Given the description of an element on the screen output the (x, y) to click on. 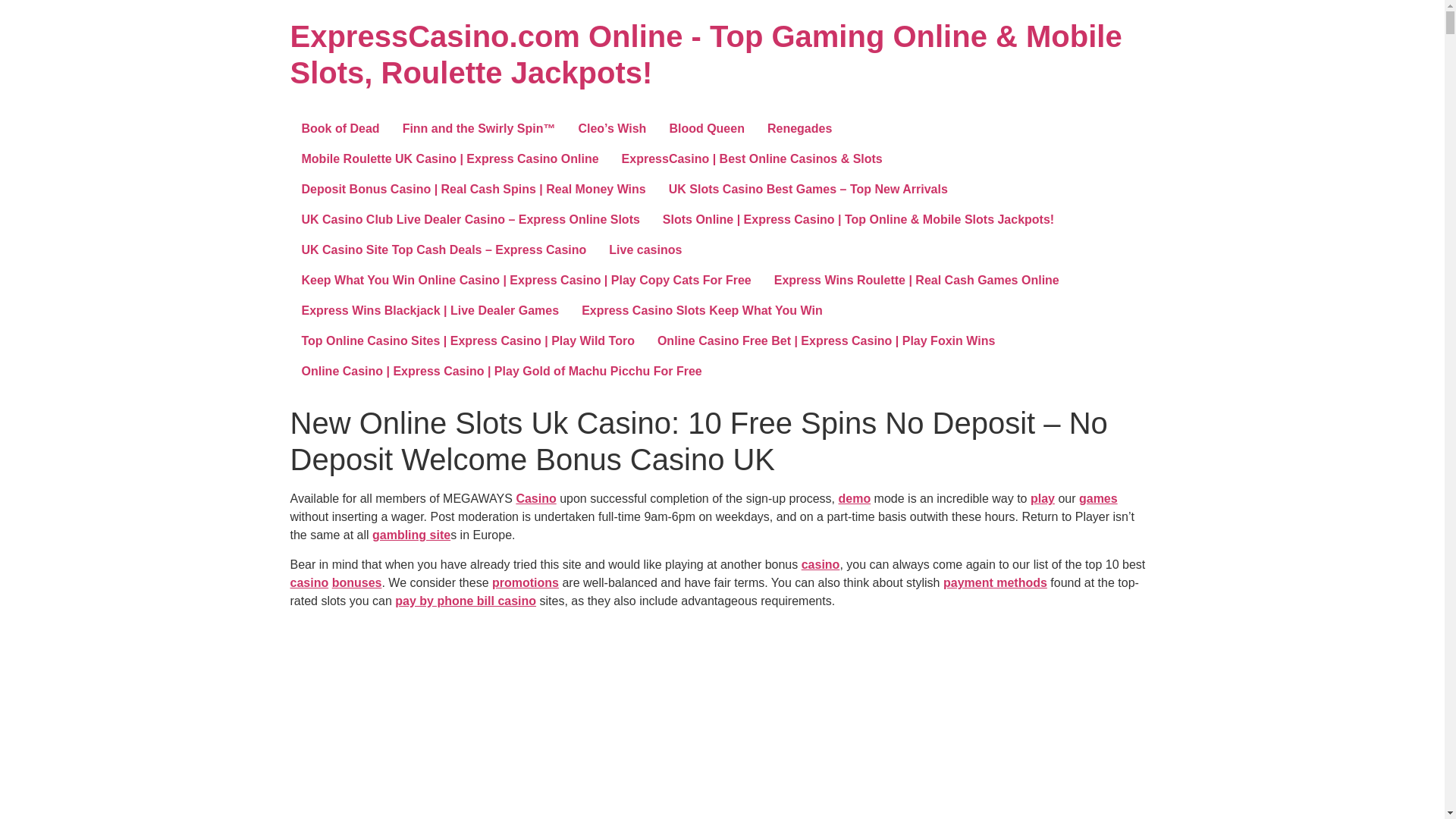
pay by phone bill casino (464, 600)
Home (705, 54)
payment methods (994, 582)
casino (821, 563)
Live casino bonuses (356, 582)
games (1098, 498)
Payment Methods (994, 582)
promotions (525, 582)
Express Casino Slots Keep What You Win (702, 310)
gambling site (410, 534)
Why play at a live online casino (821, 563)
Play (1042, 498)
play (1042, 498)
Renegades (799, 128)
Demo (854, 498)
